Given the description of an element on the screen output the (x, y) to click on. 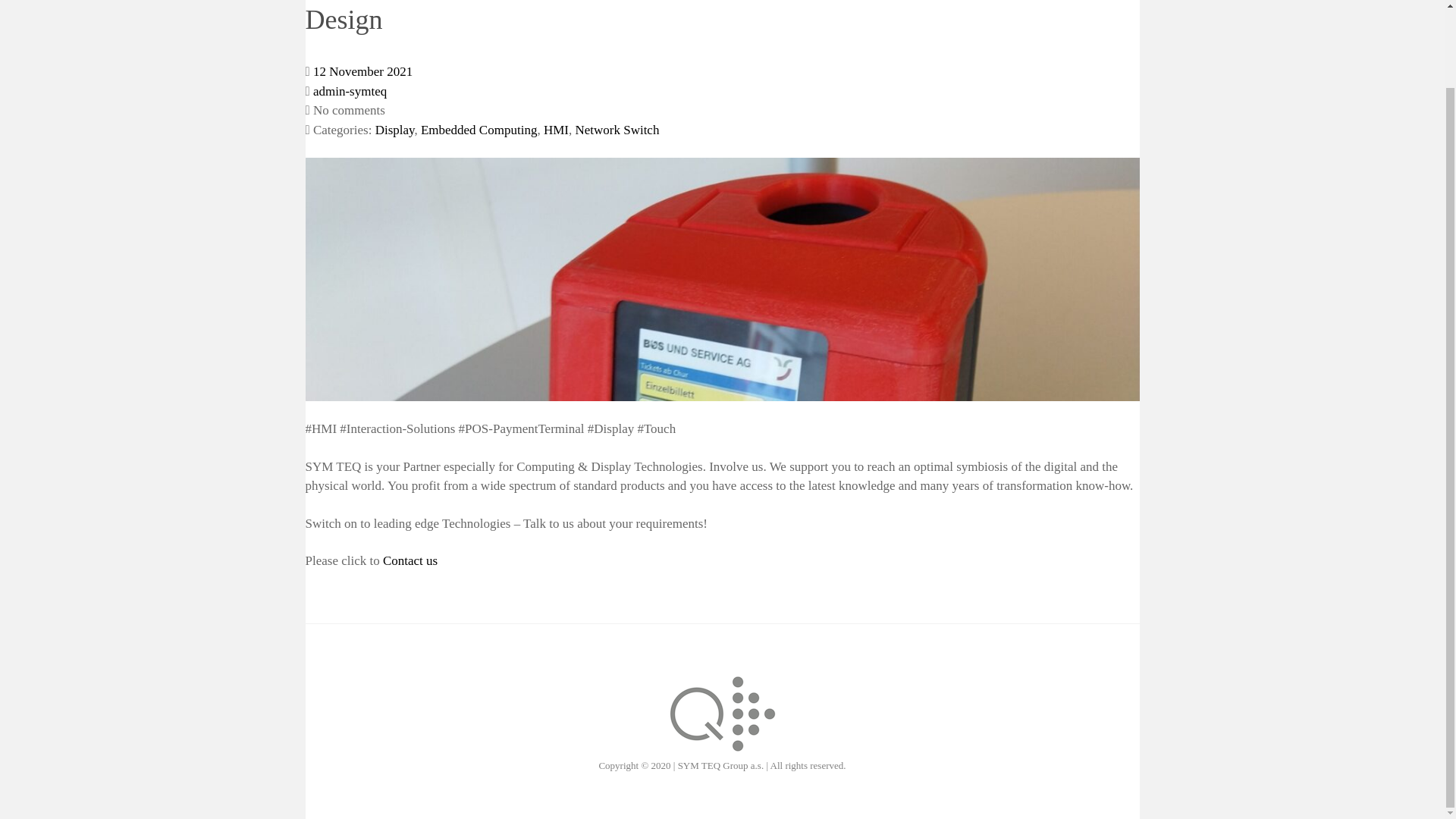
HMI (556, 129)
Display (394, 129)
admin-symteq (350, 91)
Contact (410, 560)
12 November 2021 (362, 71)
Embedded Computing (478, 129)
Network Switch (617, 129)
Network Switch (617, 129)
HMI (556, 129)
Contact us (410, 560)
Embedded Computing (478, 129)
21-11 POS Terminal Solutions (362, 71)
admin-symteq (350, 91)
Display (394, 129)
